Given the description of an element on the screen output the (x, y) to click on. 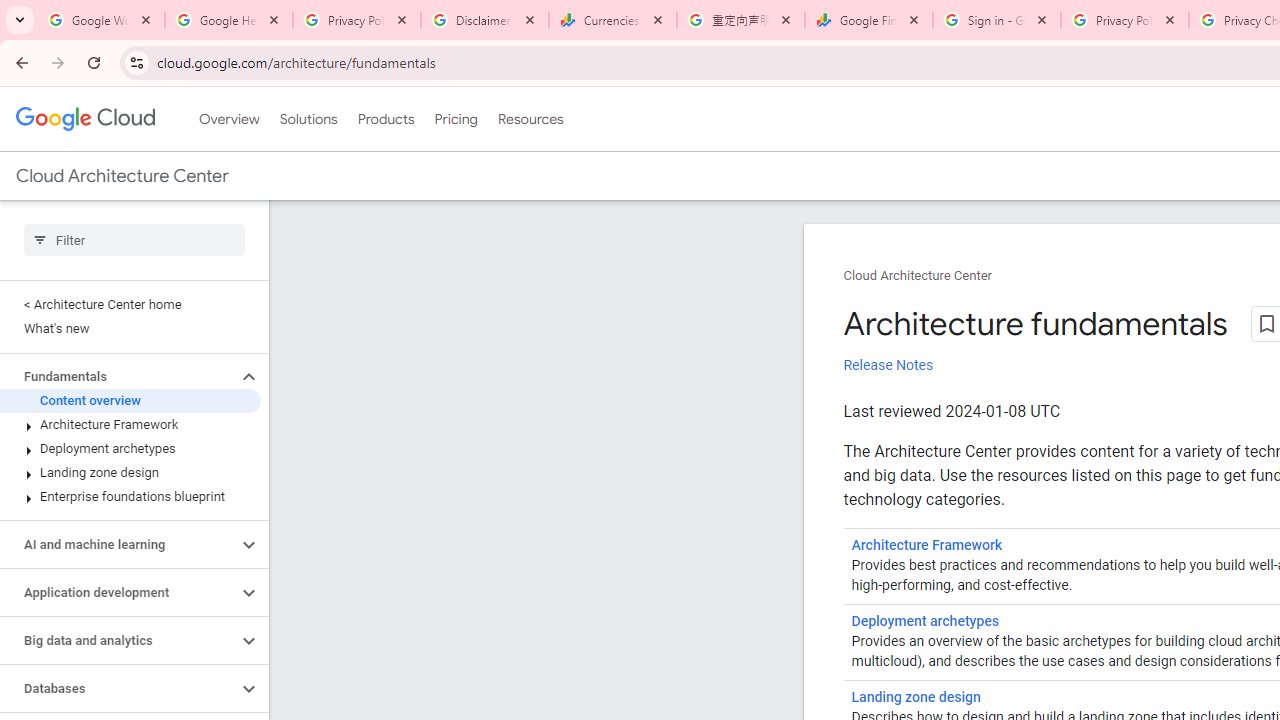
Deployment archetypes (130, 448)
What's new (130, 328)
Sign in - Google Accounts (997, 20)
Google Cloud (84, 118)
Release Notes (888, 365)
Architecture Framework (130, 425)
Big data and analytics (118, 641)
Resources (530, 119)
